Given the description of an element on the screen output the (x, y) to click on. 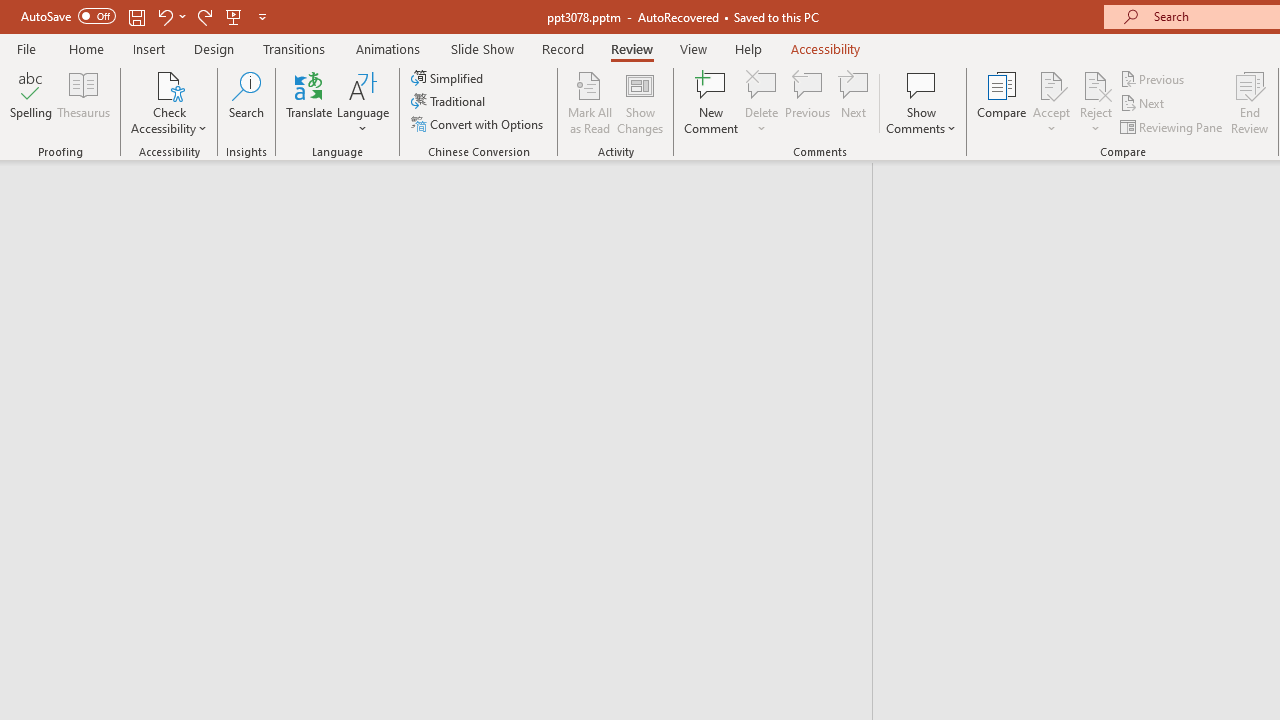
Translate (309, 102)
Thesaurus... (83, 102)
Reject Change (1096, 84)
Accessibility (825, 48)
Accept Change (1051, 84)
Show Changes (639, 102)
Spelling... (31, 102)
Simplified (449, 78)
Language (363, 102)
